Given the description of an element on the screen output the (x, y) to click on. 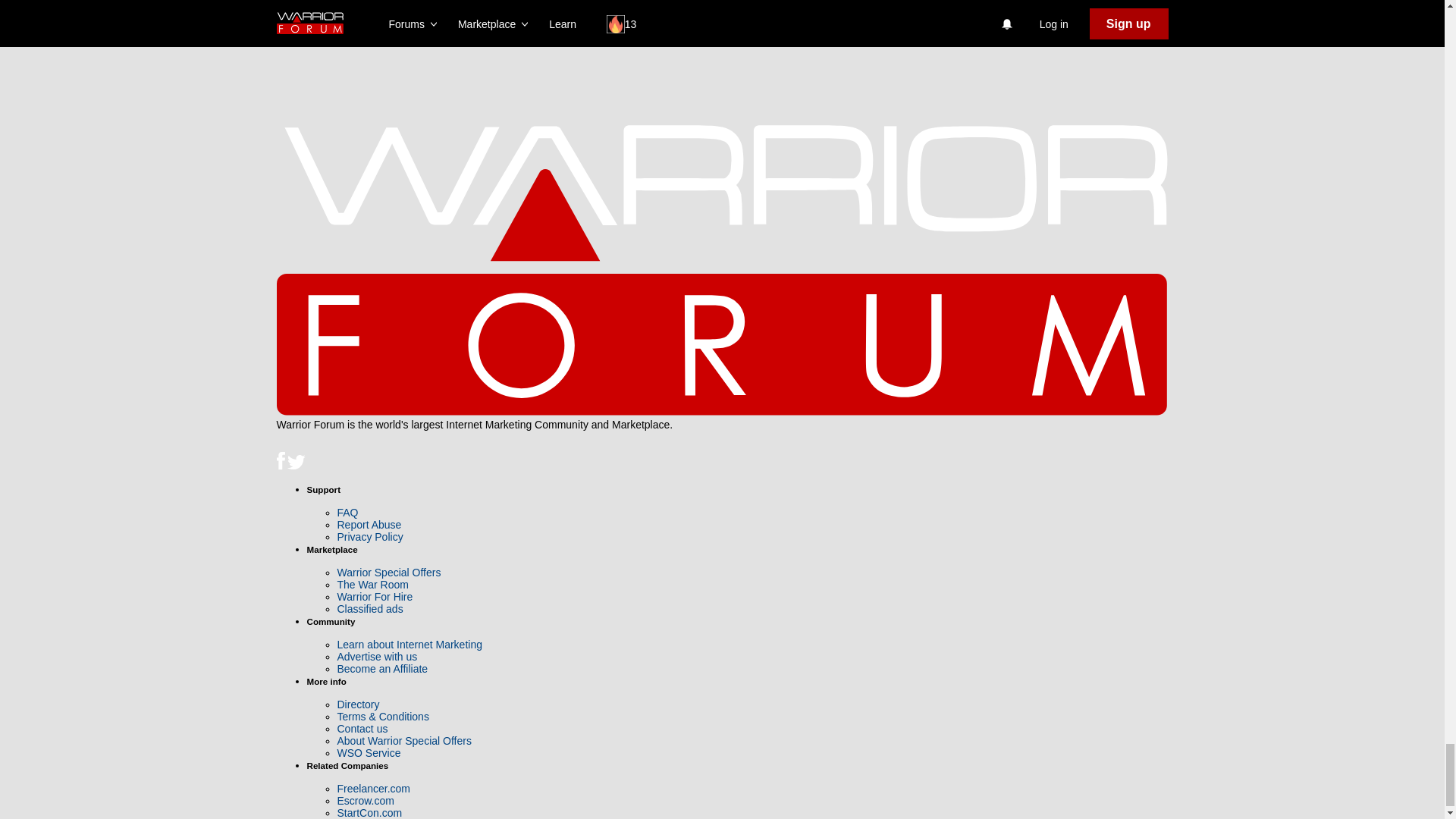
Facebook (279, 460)
Warrior Forum on Twitter (295, 466)
Warrior Forum on Facebook (281, 466)
Bird (295, 462)
